Given the description of an element on the screen output the (x, y) to click on. 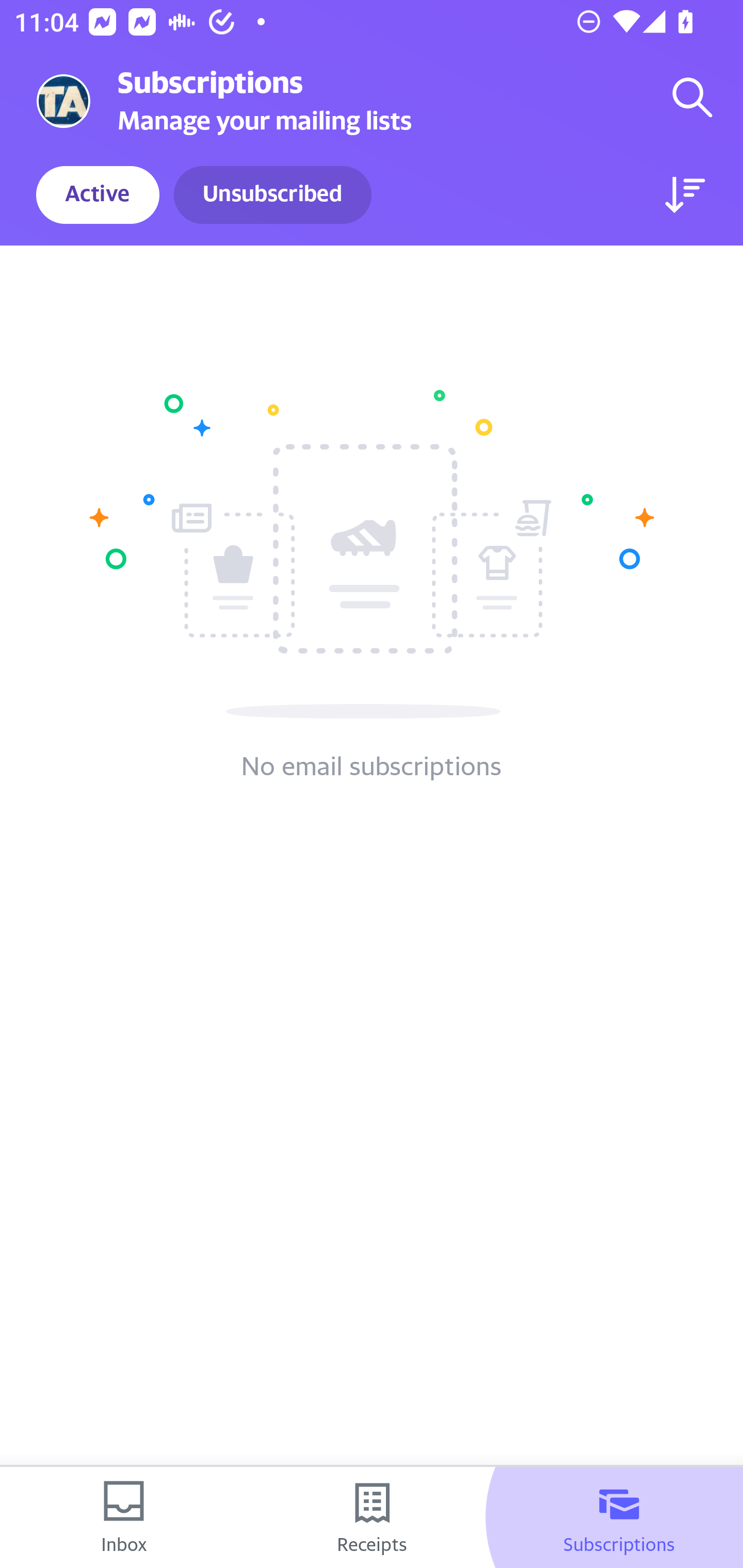
Search mail (692, 97)
Unsubscribed (272, 195)
Sort (684, 195)
Inbox (123, 1517)
Receipts (371, 1517)
Subscriptions (619, 1517)
